Given the description of an element on the screen output the (x, y) to click on. 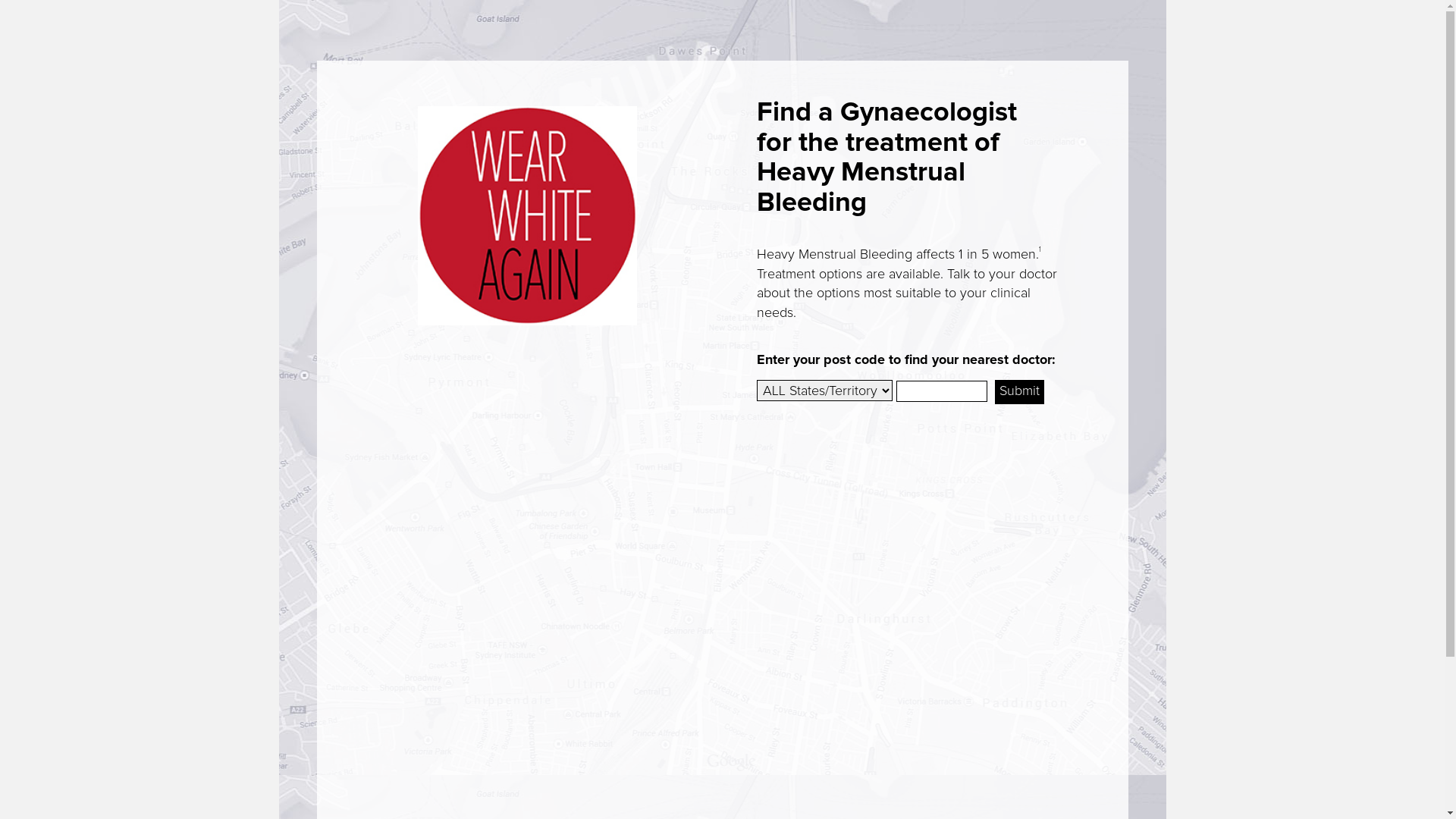
Submit Element type: text (1019, 391)
